Given the description of an element on the screen output the (x, y) to click on. 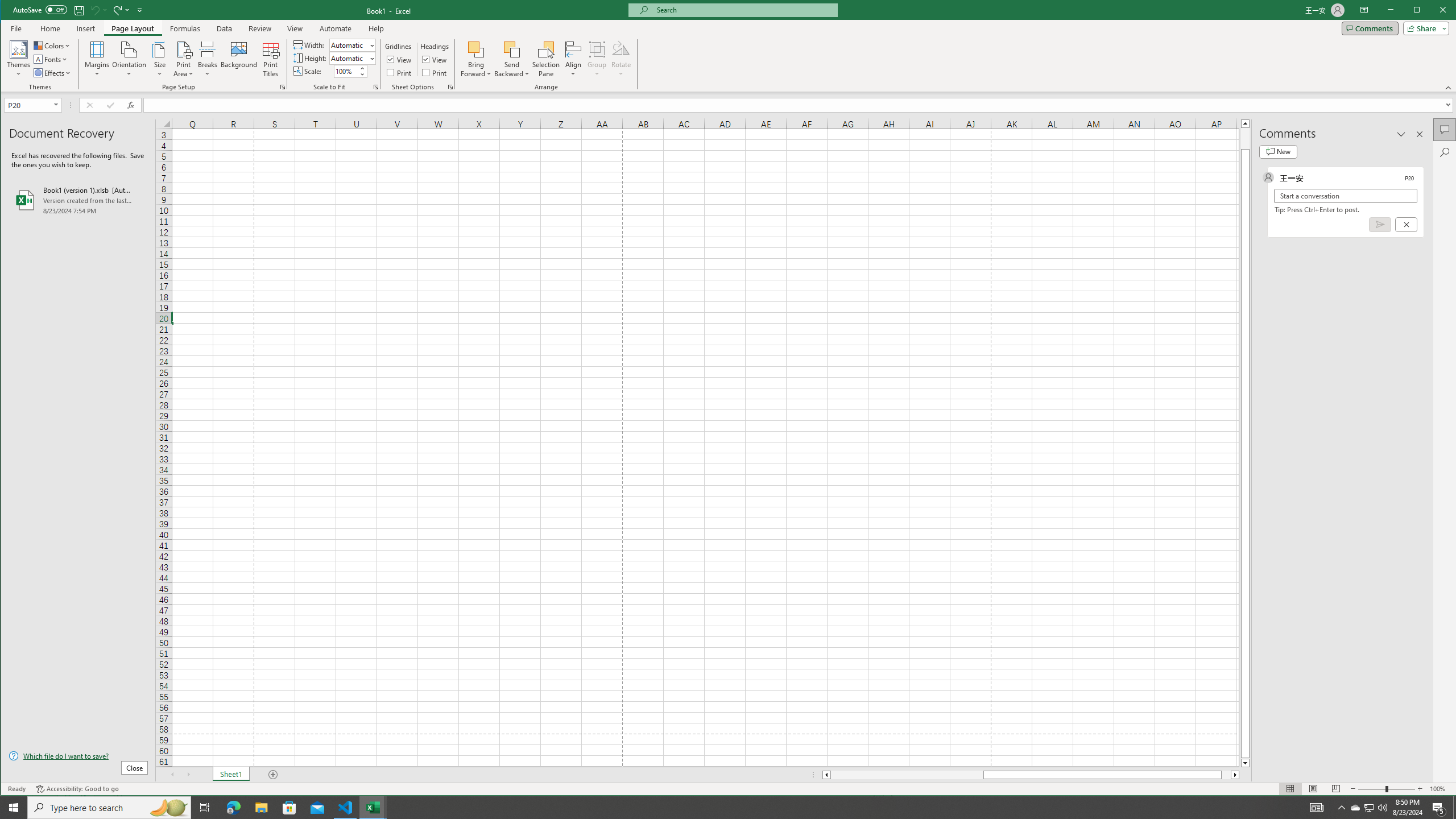
New comment (1278, 151)
Margins (96, 59)
Bring Forward (476, 59)
Type here to search (108, 807)
Show desktop (1454, 807)
Print Titles (270, 59)
Task View (204, 807)
Fonts (51, 59)
